Given the description of an element on the screen output the (x, y) to click on. 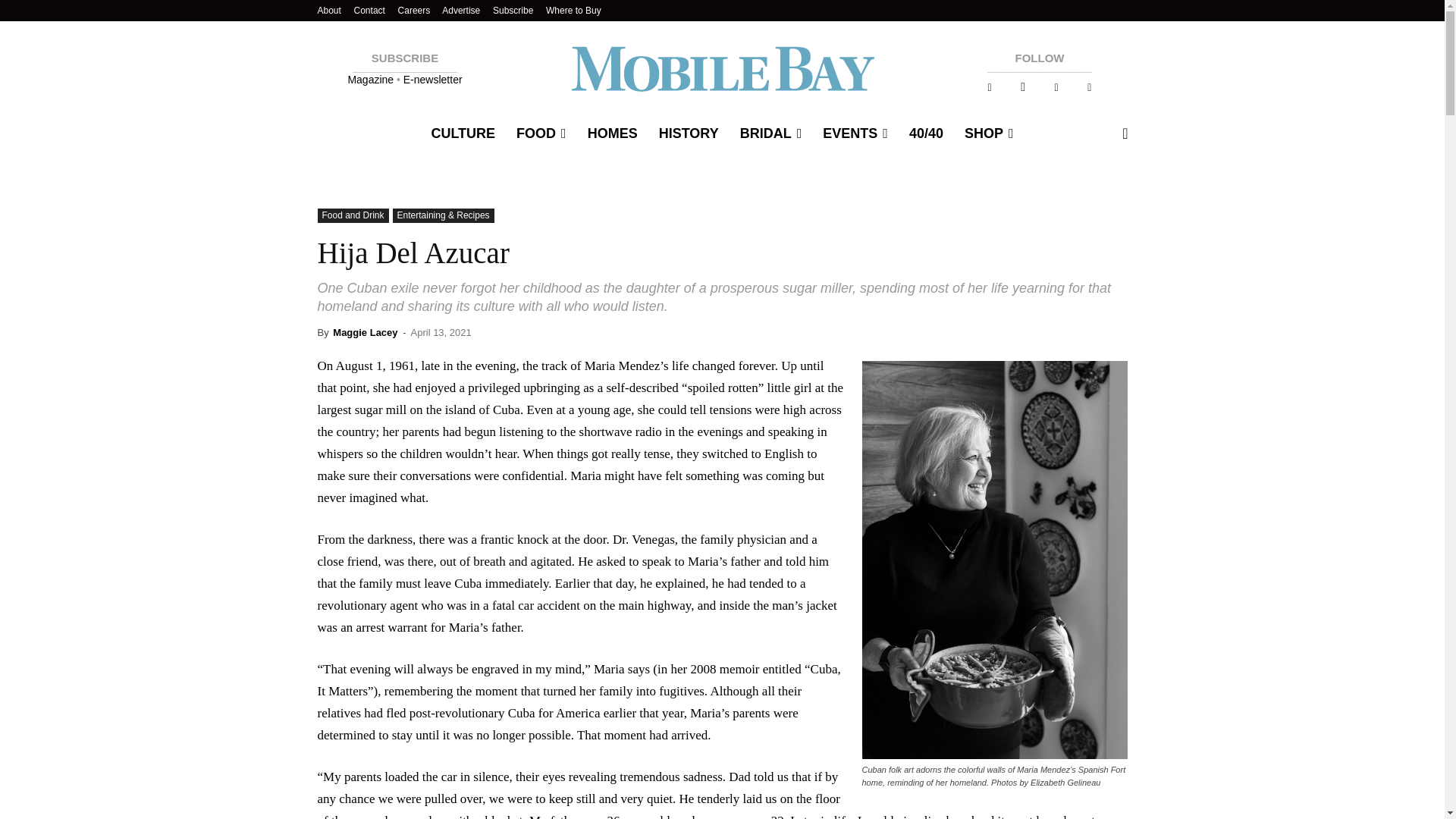
Mobile Bay Magazine (722, 67)
Facebook (989, 87)
Careers (413, 9)
E-newsletter (433, 79)
Magazine (371, 79)
Pinterest (1056, 87)
Twitter (1089, 87)
Contact (369, 9)
Advertise (461, 9)
Mobile Bay Magazine (721, 67)
